Given the description of an element on the screen output the (x, y) to click on. 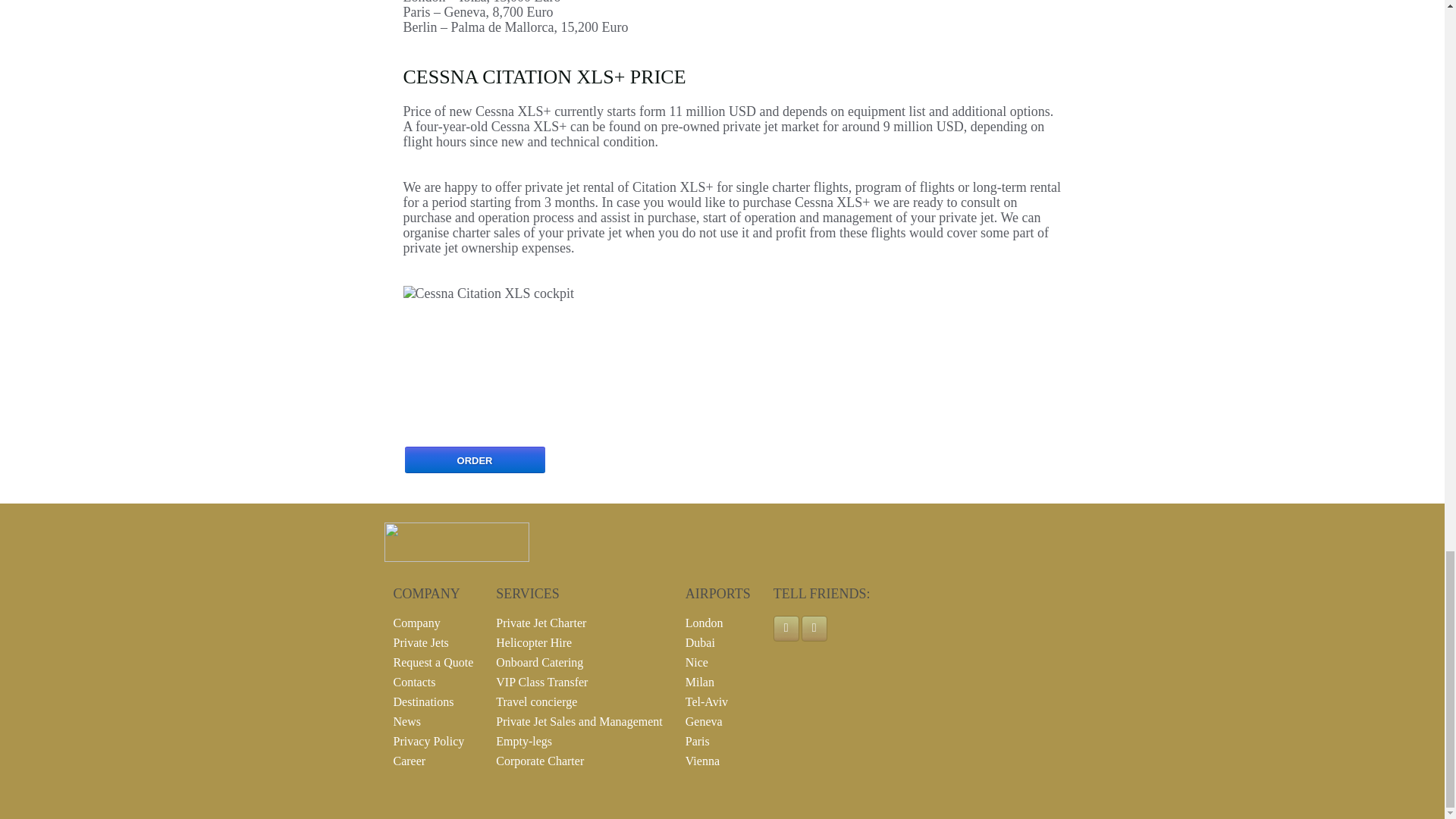
Travel concierge (536, 701)
Empty-legs (523, 740)
Geneva (703, 721)
Onboard Catering (539, 662)
Tel-Aviv (706, 701)
Career (409, 760)
Private Jet Charter (541, 622)
Paris (697, 740)
Dubai (699, 642)
Vienna (702, 760)
